Given the description of an element on the screen output the (x, y) to click on. 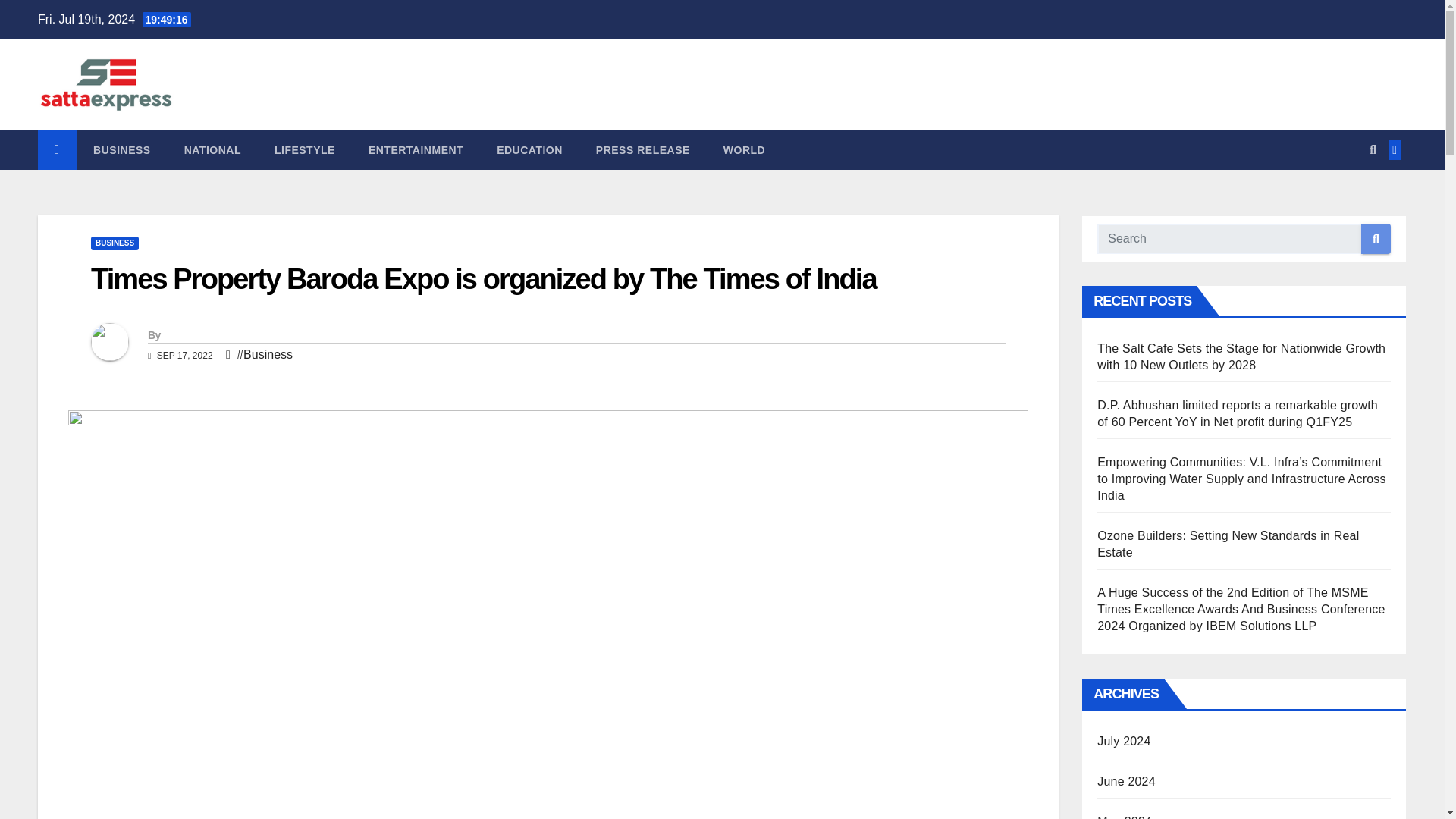
BUSINESS (122, 149)
LIFESTYLE (304, 149)
PRESS RELEASE (642, 149)
Press Release (642, 149)
World (743, 149)
Entertainment (416, 149)
Business (122, 149)
ENTERTAINMENT (416, 149)
Lifestyle (304, 149)
EDUCATION (529, 149)
WORLD (743, 149)
BUSINESS (114, 243)
NATIONAL (212, 149)
